Given the description of an element on the screen output the (x, y) to click on. 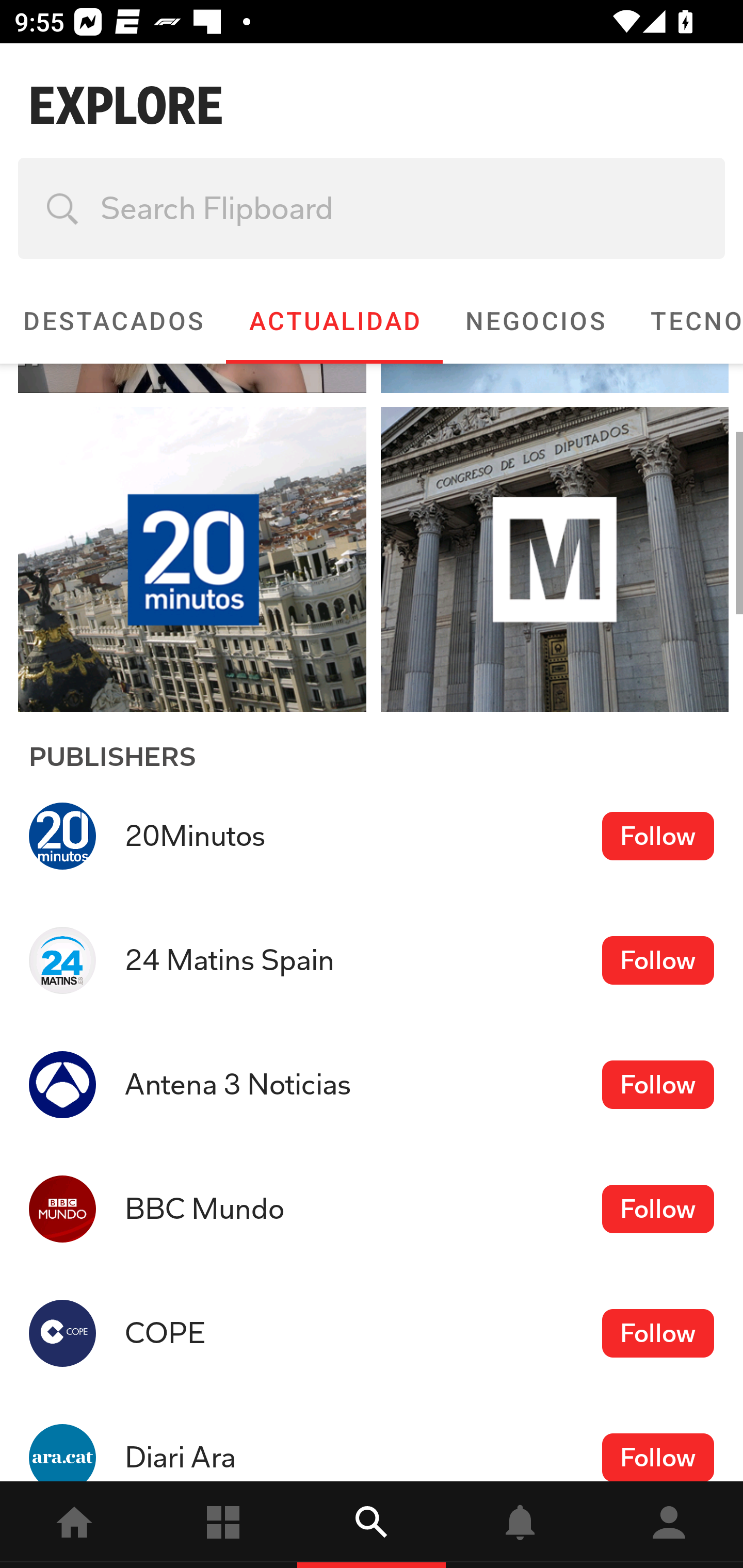
Search Flipboard (371, 208)
Destacados DESTACADOS (112, 320)
Negocios NEGOCIOS (534, 320)
Tecnología & Ciencia TECNOLOGÍA & CIENCIA (685, 320)
20Minutos Follow (371, 835)
Follow (657, 836)
24 Matins Spain Follow (371, 960)
Follow (657, 960)
Antena 3 Noticias Follow (371, 1084)
Follow (657, 1083)
BBC Mundo Follow (371, 1208)
Follow (657, 1209)
COPE Follow (371, 1333)
Follow (657, 1333)
Diari Ara Follow (371, 1438)
Follow (657, 1457)
home (74, 1524)
Following (222, 1524)
explore (371, 1524)
Notifications (519, 1524)
Profile (668, 1524)
